Given the description of an element on the screen output the (x, y) to click on. 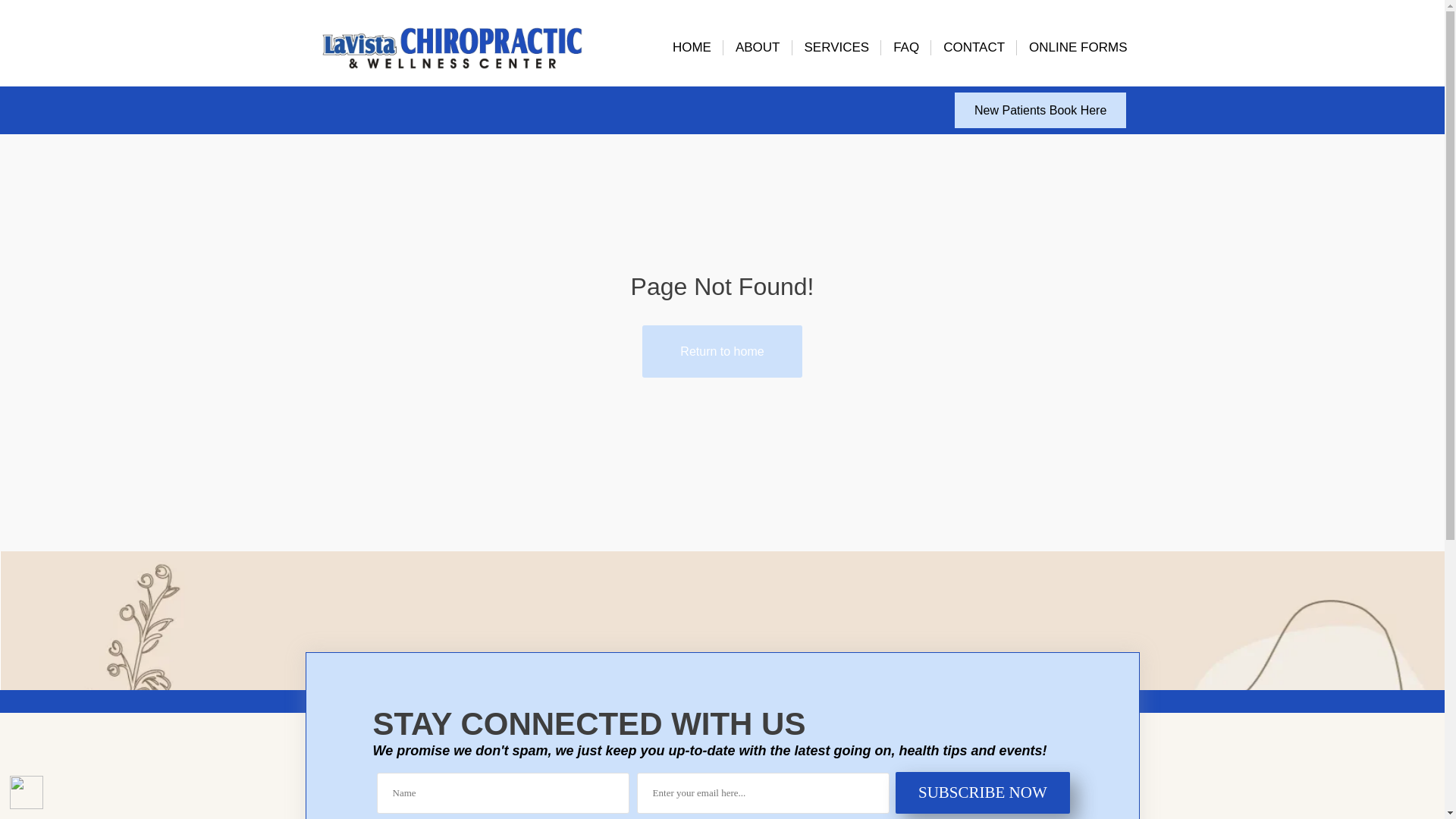
SERVICES (836, 47)
SUBSCRIBE NOW (982, 793)
HOME (692, 47)
Return to home (722, 351)
CONTACT (973, 47)
ONLINE FORMS (1077, 47)
ABOUT (757, 47)
FAQ (905, 47)
New Patients Book Here (1040, 109)
